Given the description of an element on the screen output the (x, y) to click on. 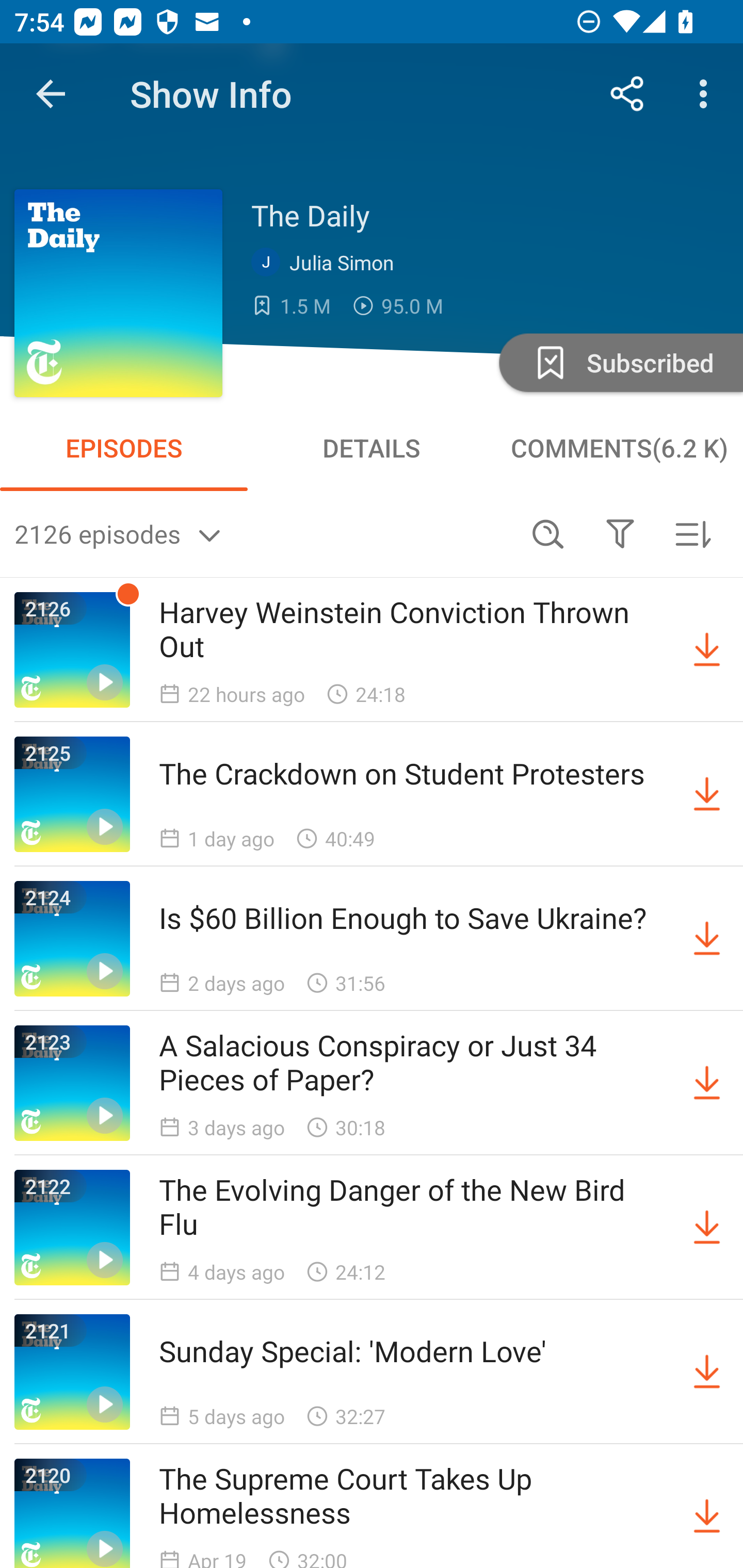
Navigate up (50, 93)
Share (626, 93)
More options (706, 93)
Julia Simon (327, 262)
Unsubscribe Subscribed (619, 361)
EPISODES (123, 447)
DETAILS (371, 447)
COMMENTS(6.2 K) (619, 447)
2126 episodes  (262, 533)
 Search (547, 533)
 (619, 533)
 Sorted by newest first (692, 533)
Download (706, 649)
Download (706, 793)
Download (706, 939)
Download (706, 1083)
Download (706, 1227)
Download (706, 1371)
Download (706, 1513)
